Given the description of an element on the screen output the (x, y) to click on. 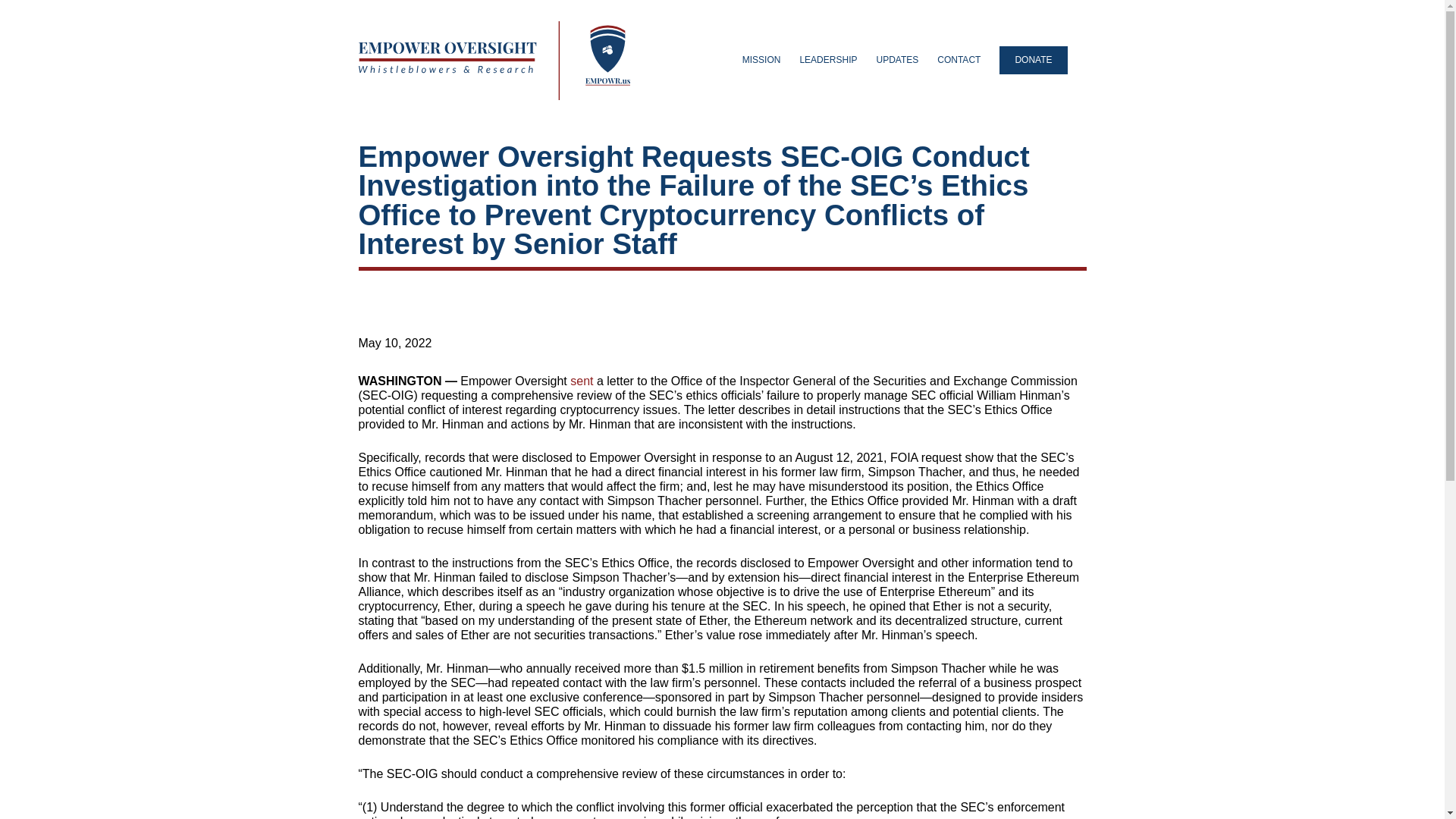
DONATE (1032, 59)
MISSION (761, 59)
CONTACT (958, 59)
sent (581, 380)
UPDATES (897, 59)
LEADERSHIP (828, 59)
